Given the description of an element on the screen output the (x, y) to click on. 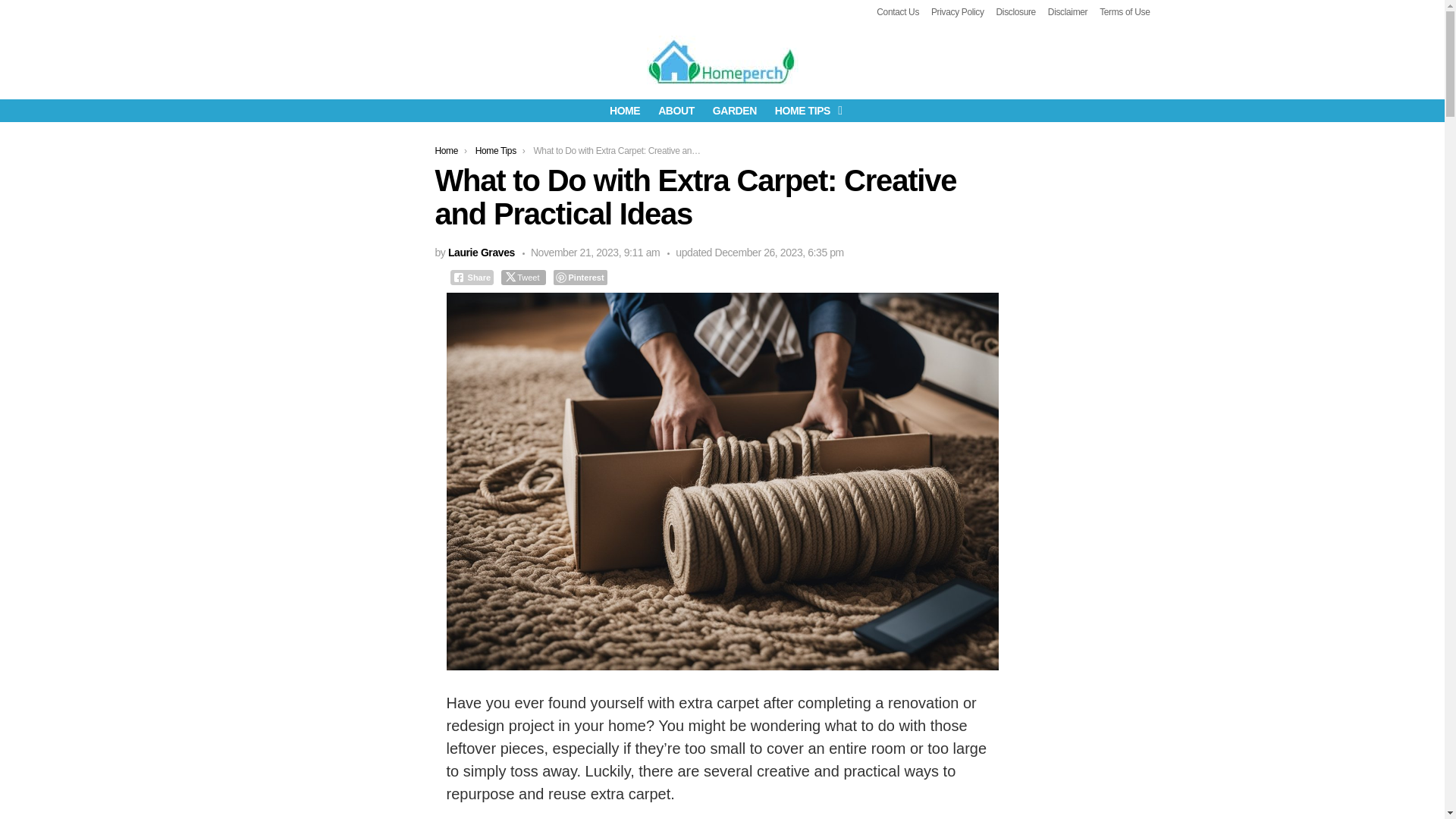
Contact Us (897, 12)
Home Tips (496, 150)
Disclosure (1015, 12)
HOME TIPS (805, 110)
ABOUT (675, 110)
Share (472, 277)
GARDEN (734, 110)
Laurie Graves (481, 252)
Terms of Use (1124, 12)
Home (446, 150)
